Given the description of an element on the screen output the (x, y) to click on. 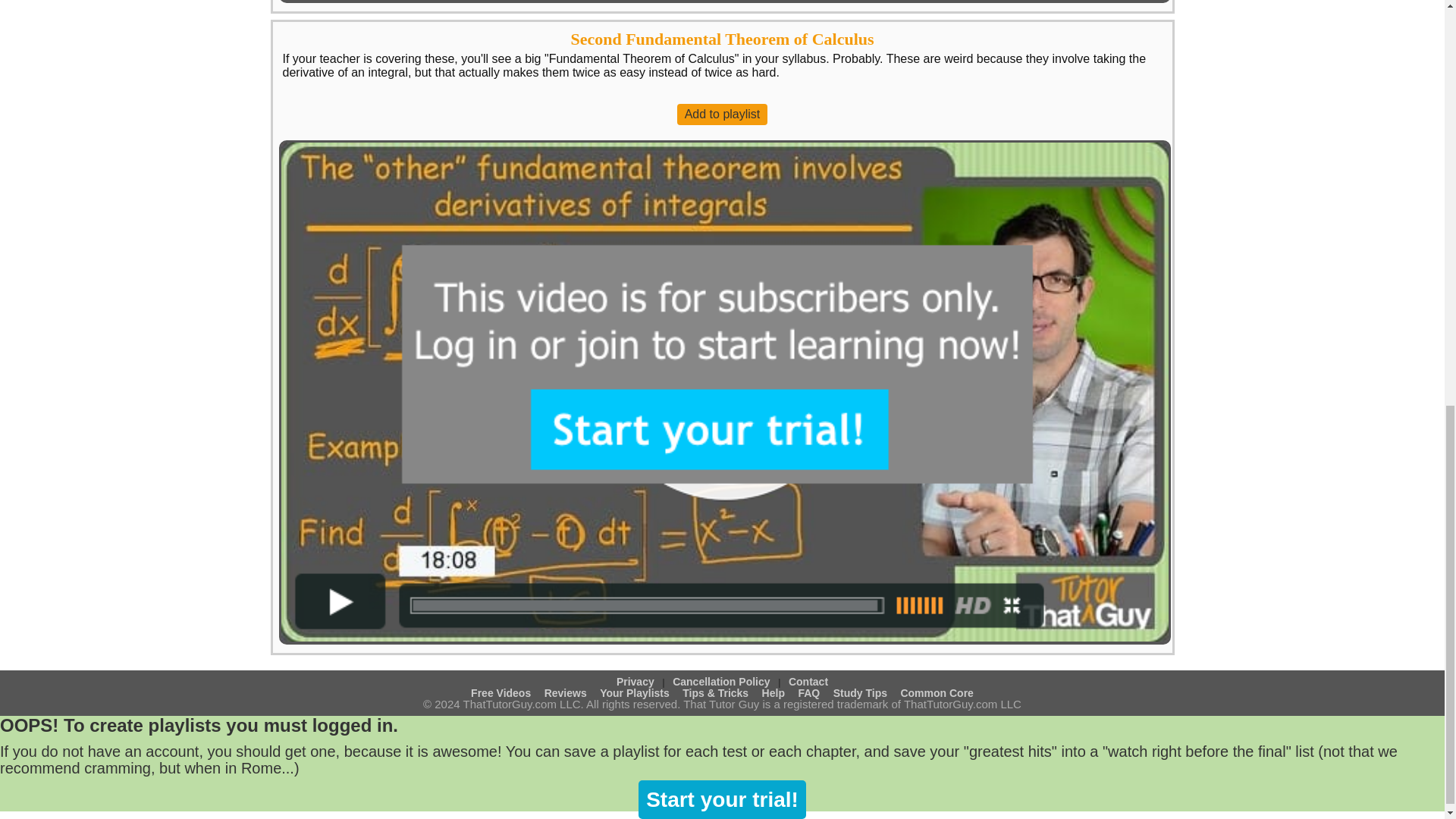
Cancellation Policy (721, 681)
Privacy (634, 681)
Add to playlist (722, 114)
